Given the description of an element on the screen output the (x, y) to click on. 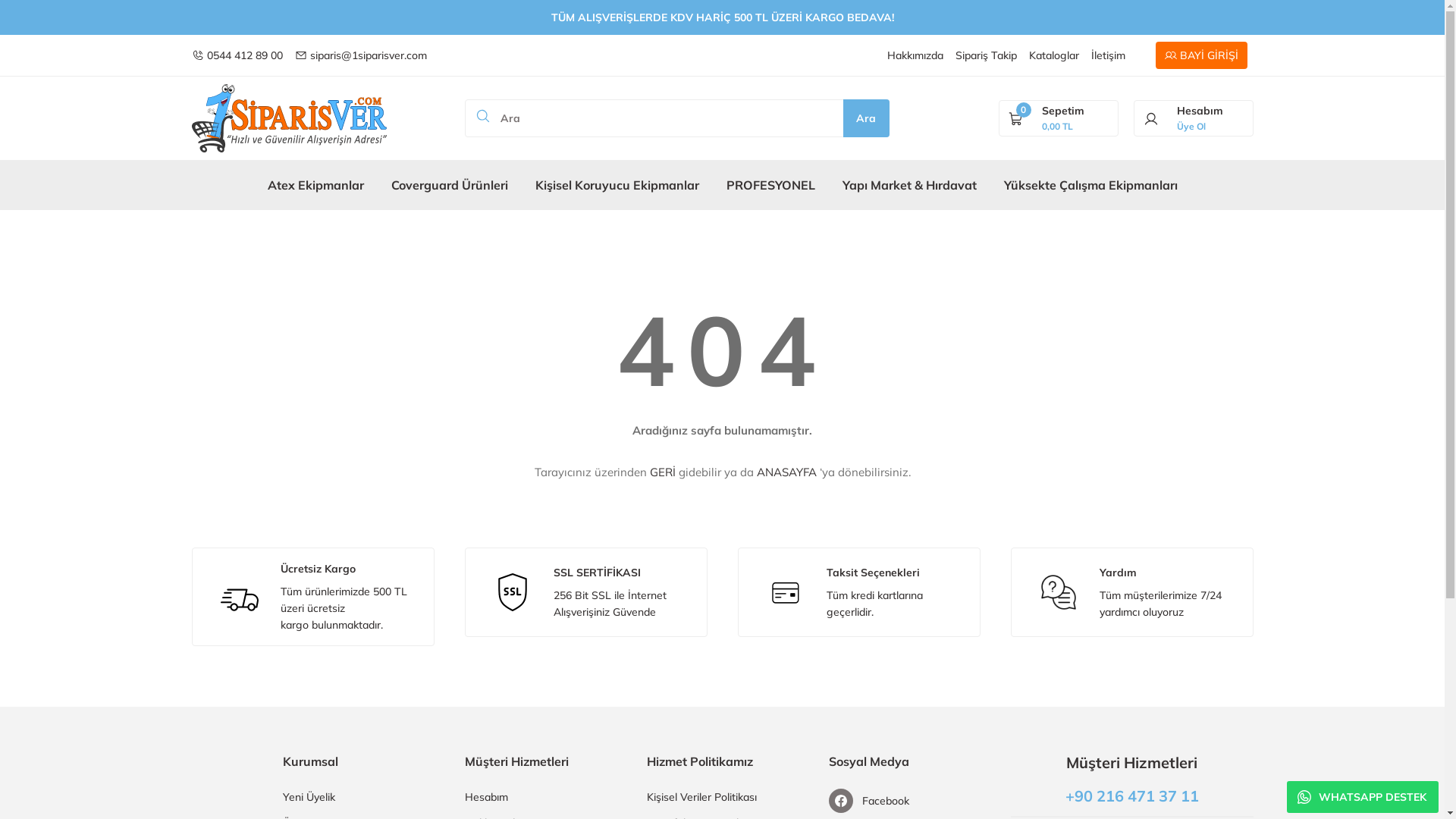
siparis@1siparisver.com Element type: text (360, 54)
0544 412 89 00 Element type: text (236, 54)
Ara Element type: text (866, 118)
Atex Ekipmanlar Element type: text (314, 184)
Kataloglar Element type: text (1053, 54)
PROFESYONEL Element type: text (770, 184)
Sepetim
0,00 TL
0 Element type: text (1058, 117)
ANASAYFA Element type: text (786, 471)
WHATSAPP DESTEK Element type: text (1362, 796)
Facebook Element type: text (903, 800)
